Given the description of an element on the screen output the (x, y) to click on. 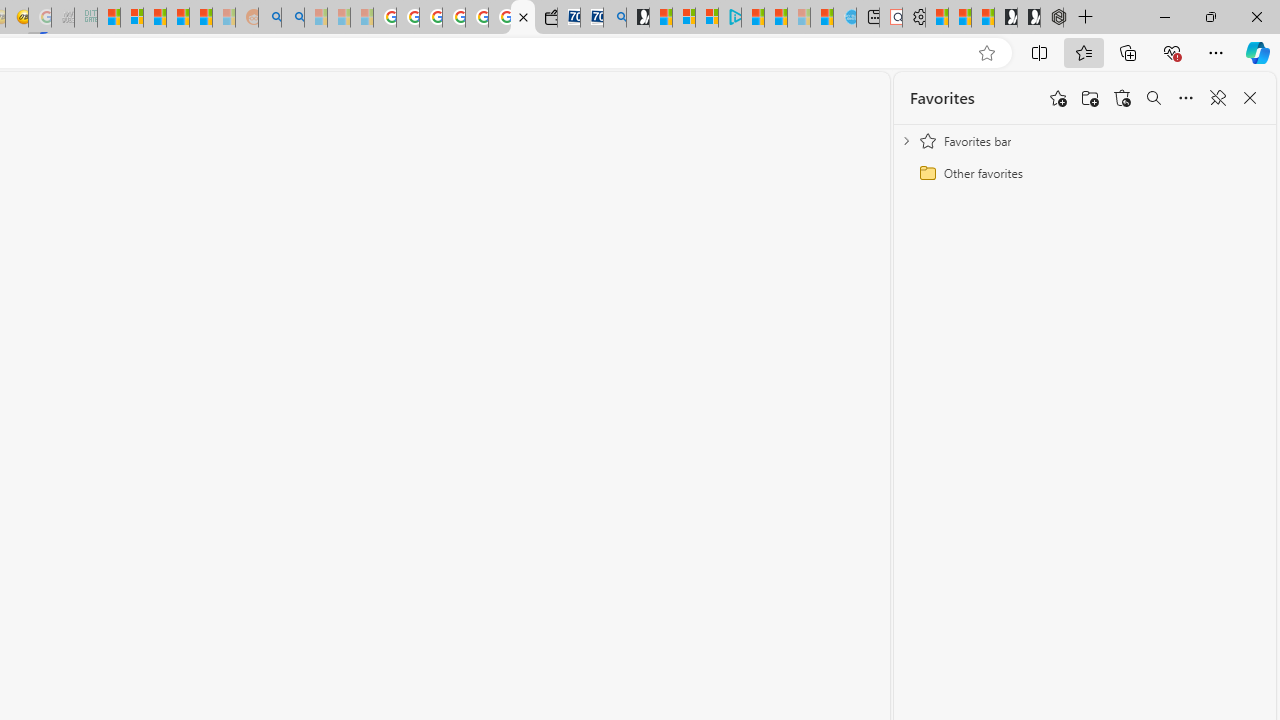
Utah sues federal government - Search (292, 17)
Unpin favorites (1217, 98)
